Given the description of an element on the screen output the (x, y) to click on. 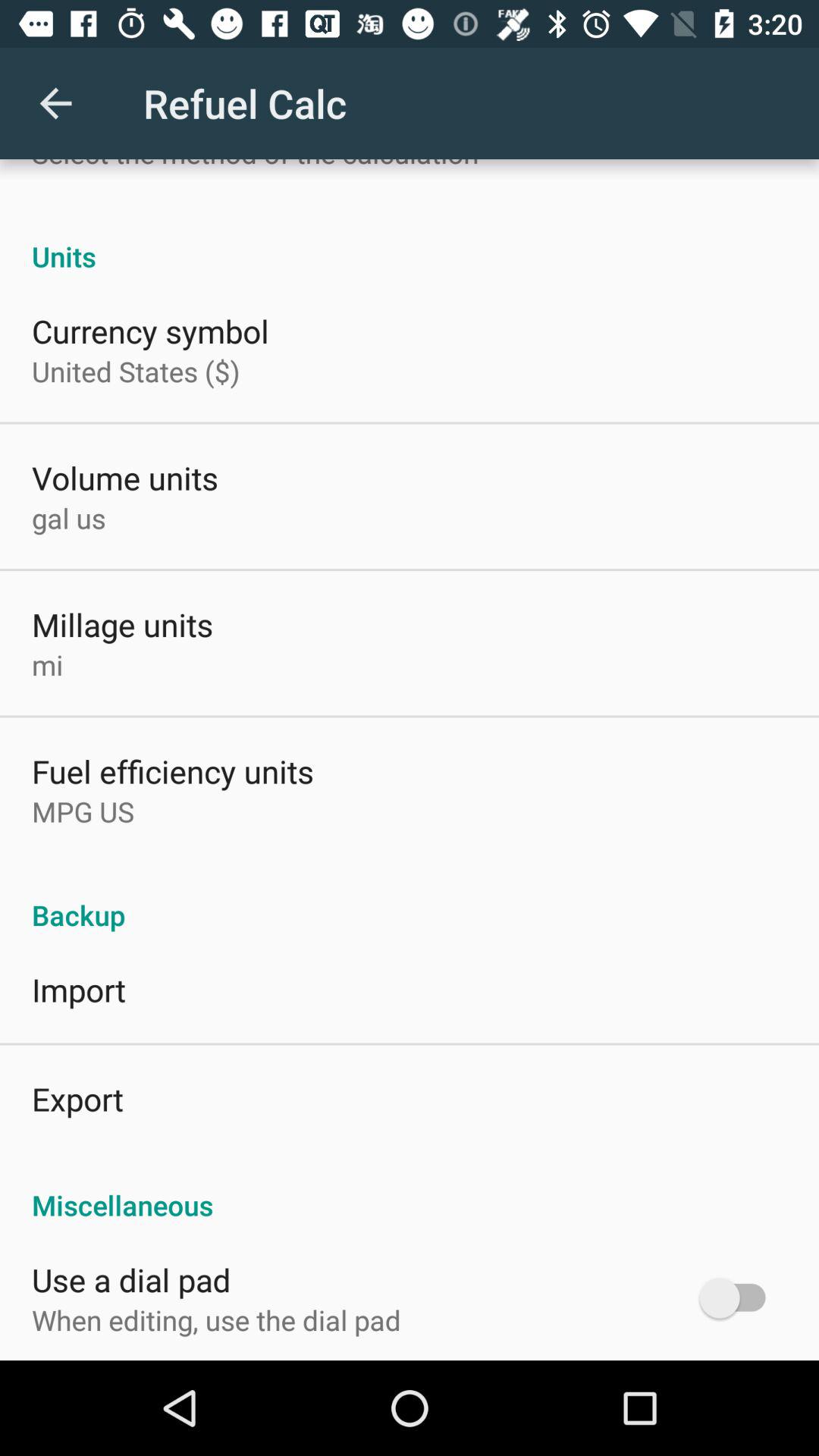
turn on export icon (77, 1098)
